Given the description of an element on the screen output the (x, y) to click on. 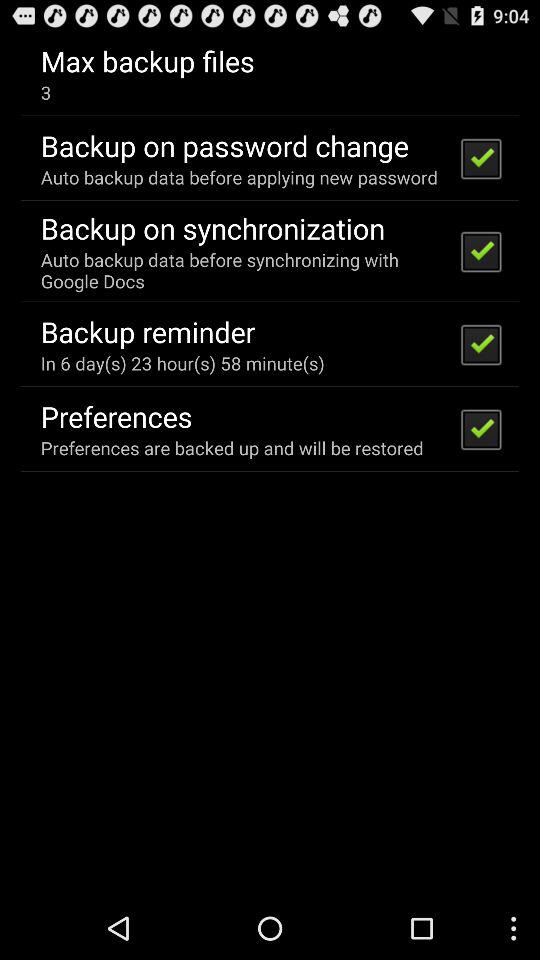
swipe to backup reminder app (147, 331)
